Given the description of an element on the screen output the (x, y) to click on. 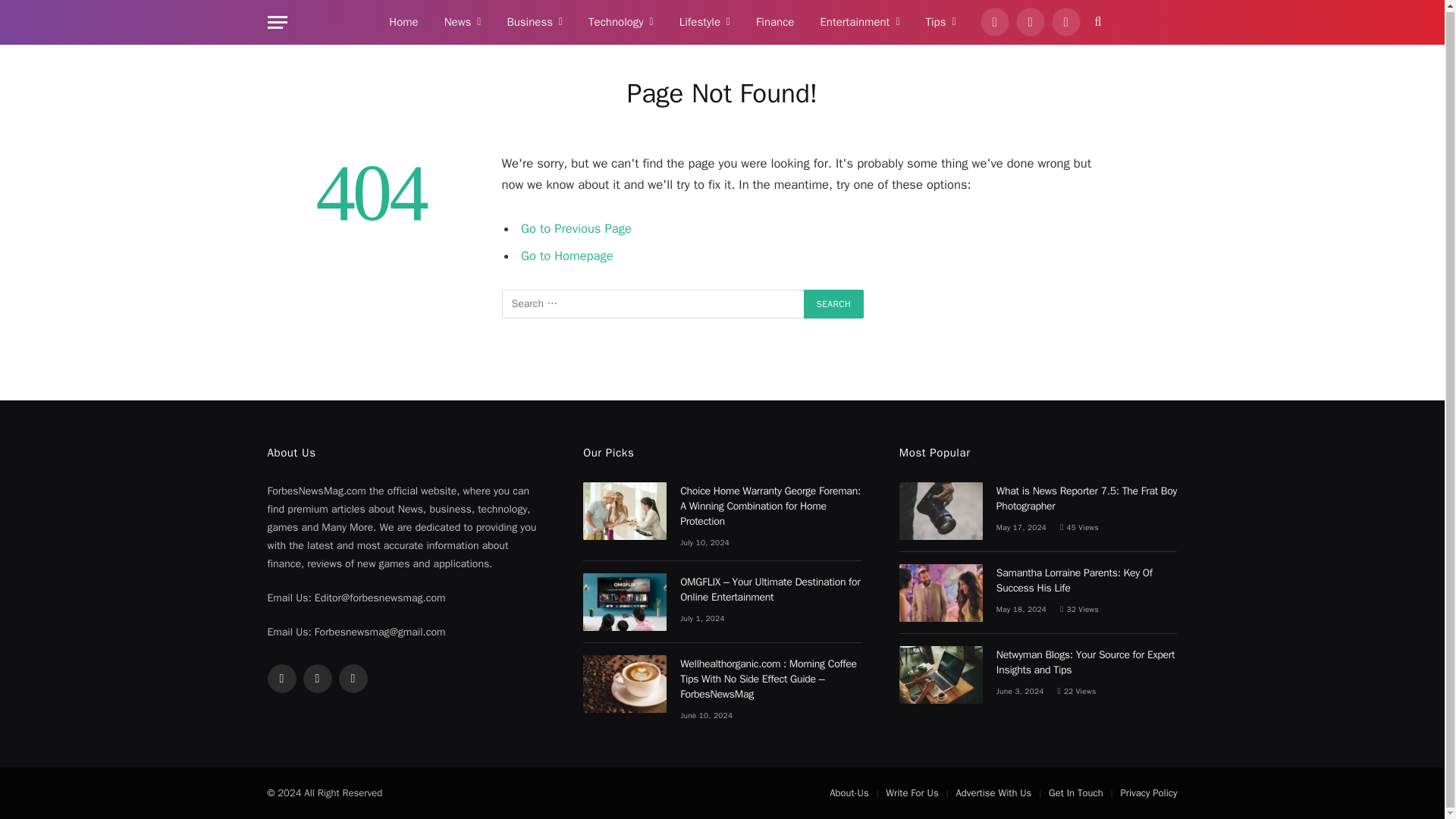
Search (833, 303)
Business (534, 22)
Search (833, 303)
Home (402, 22)
News (462, 22)
